Given the description of an element on the screen output the (x, y) to click on. 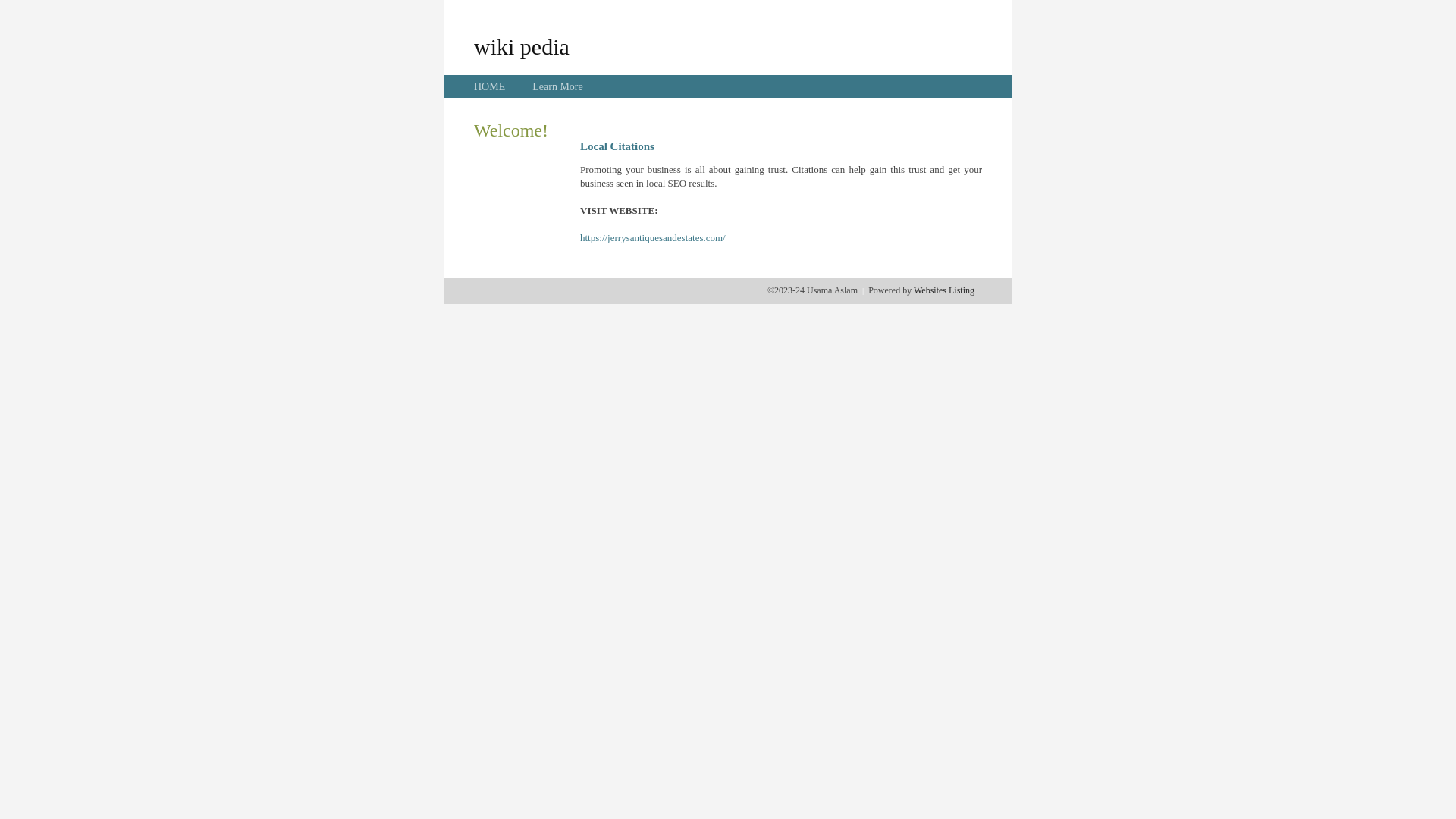
HOME Element type: text (489, 86)
Learn More Element type: text (557, 86)
wiki pedia Element type: text (521, 46)
Websites Listing Element type: text (943, 290)
https://jerrysantiquesandestates.com/ Element type: text (652, 237)
